Given the description of an element on the screen output the (x, y) to click on. 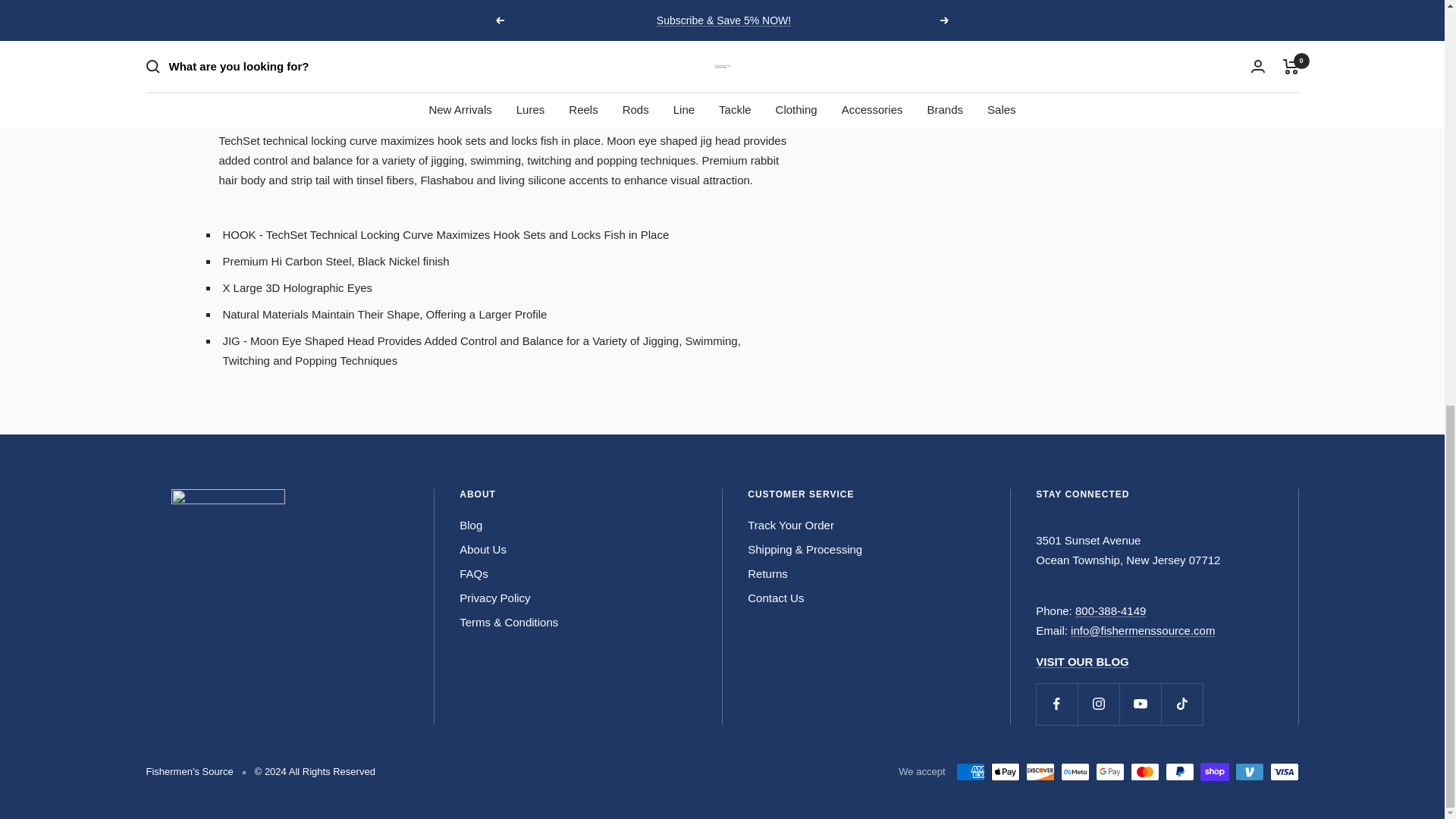
Fishermen's Source Blog (1082, 661)
tel:800-388-4149 (1110, 610)
